Given the description of an element on the screen output the (x, y) to click on. 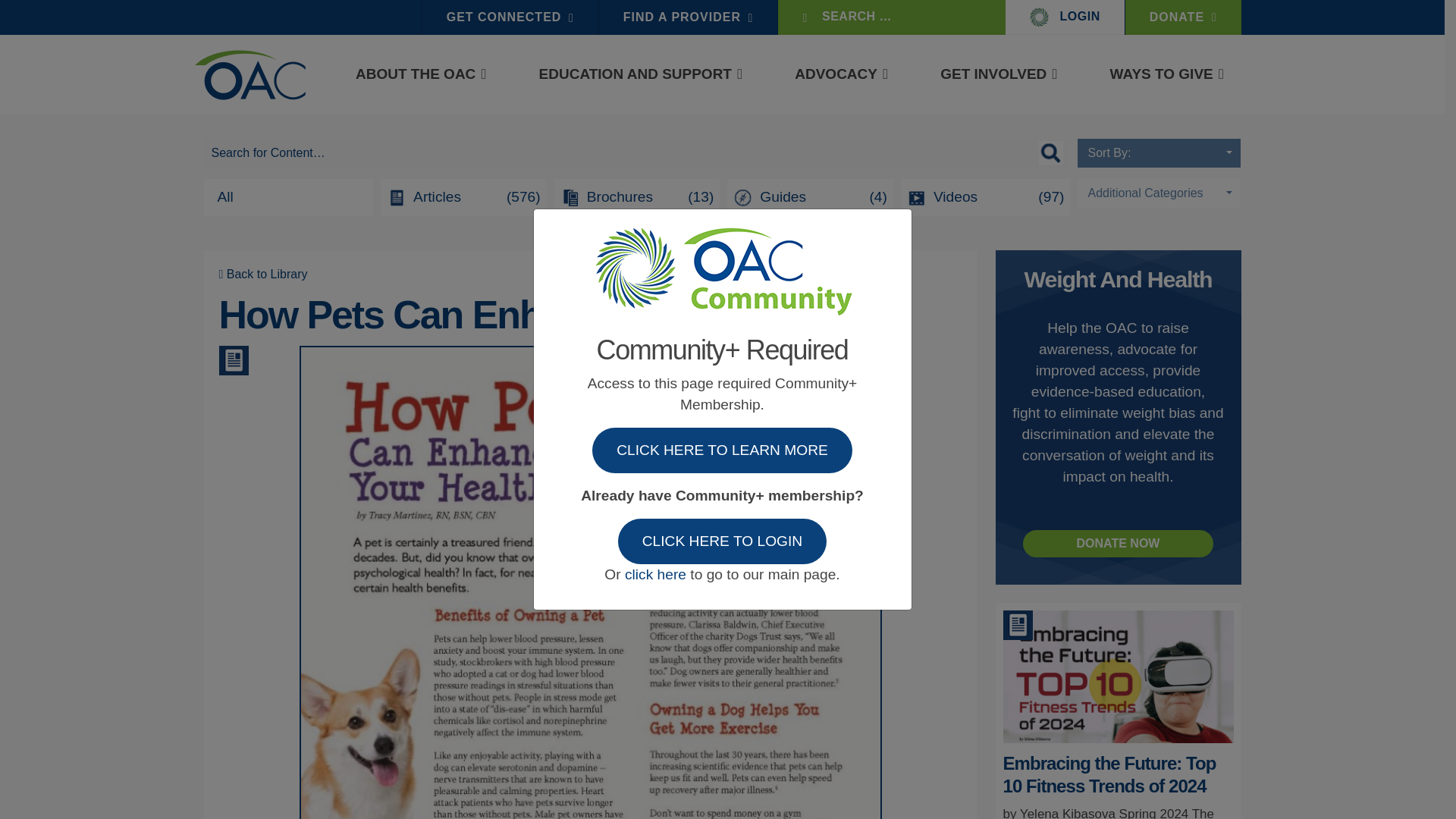
EDUCATION AND SUPPORT (635, 74)
Search (12, 12)
FIND A PROVIDER (687, 17)
Embracing the Future: Top 10 Fitness Trends of 2024 (1109, 774)
LOGIN (1065, 17)
ADVOCACY (835, 74)
Search for: (636, 152)
ABOUT THE OAC (415, 74)
Embracing the Future: Top 10 Fitness Trends of 2024 (1118, 758)
GET CONNECTED (510, 17)
DONATE (1183, 17)
